Given the description of an element on the screen output the (x, y) to click on. 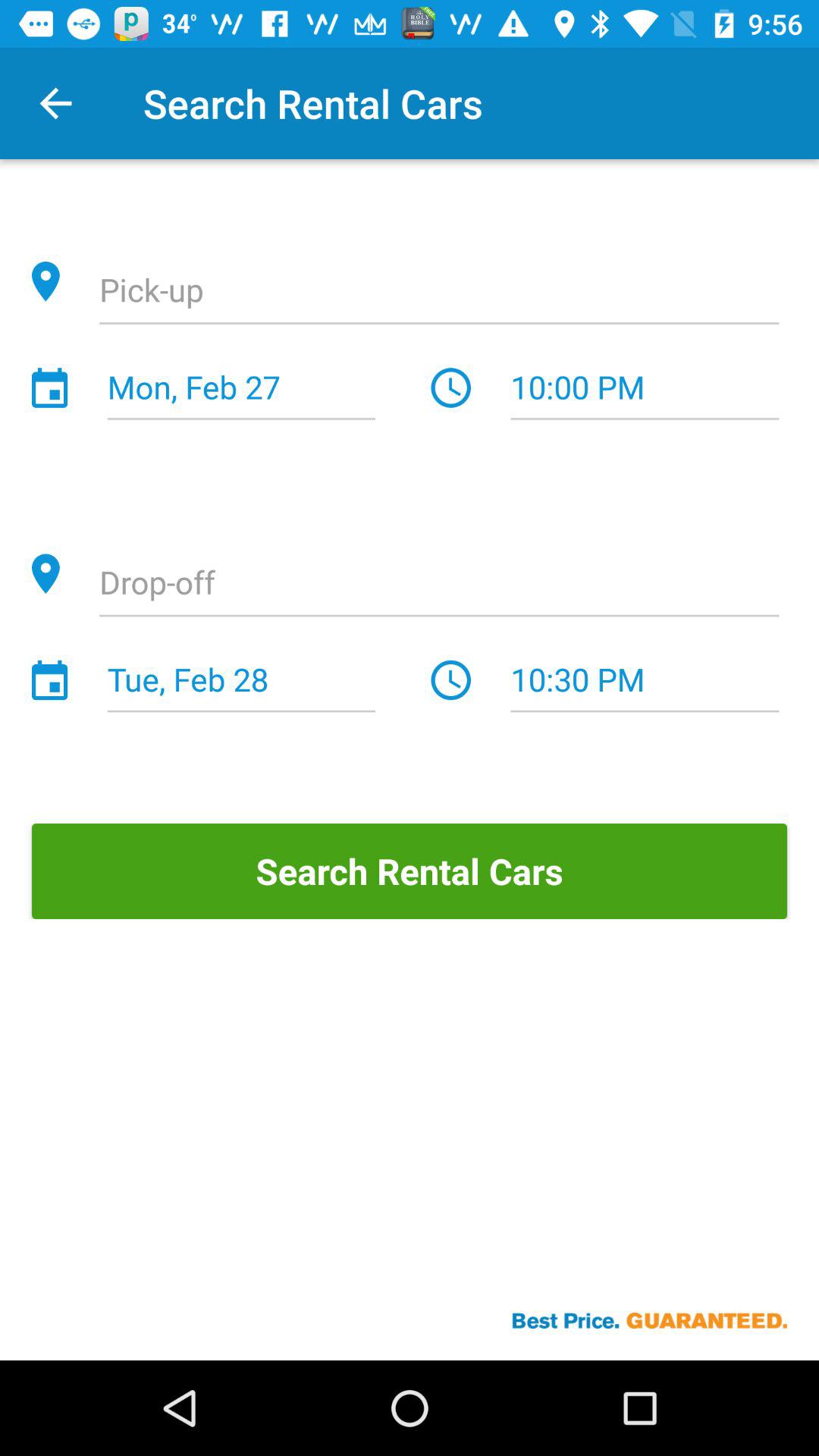
detail of location for pick up (439, 292)
